Given the description of an element on the screen output the (x, y) to click on. 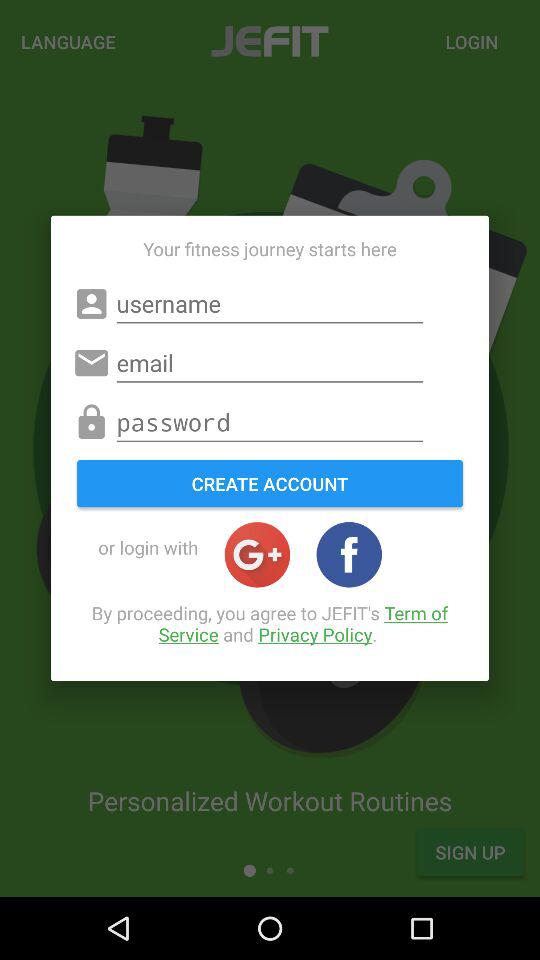
type the username (269, 303)
